Given the description of an element on the screen output the (x, y) to click on. 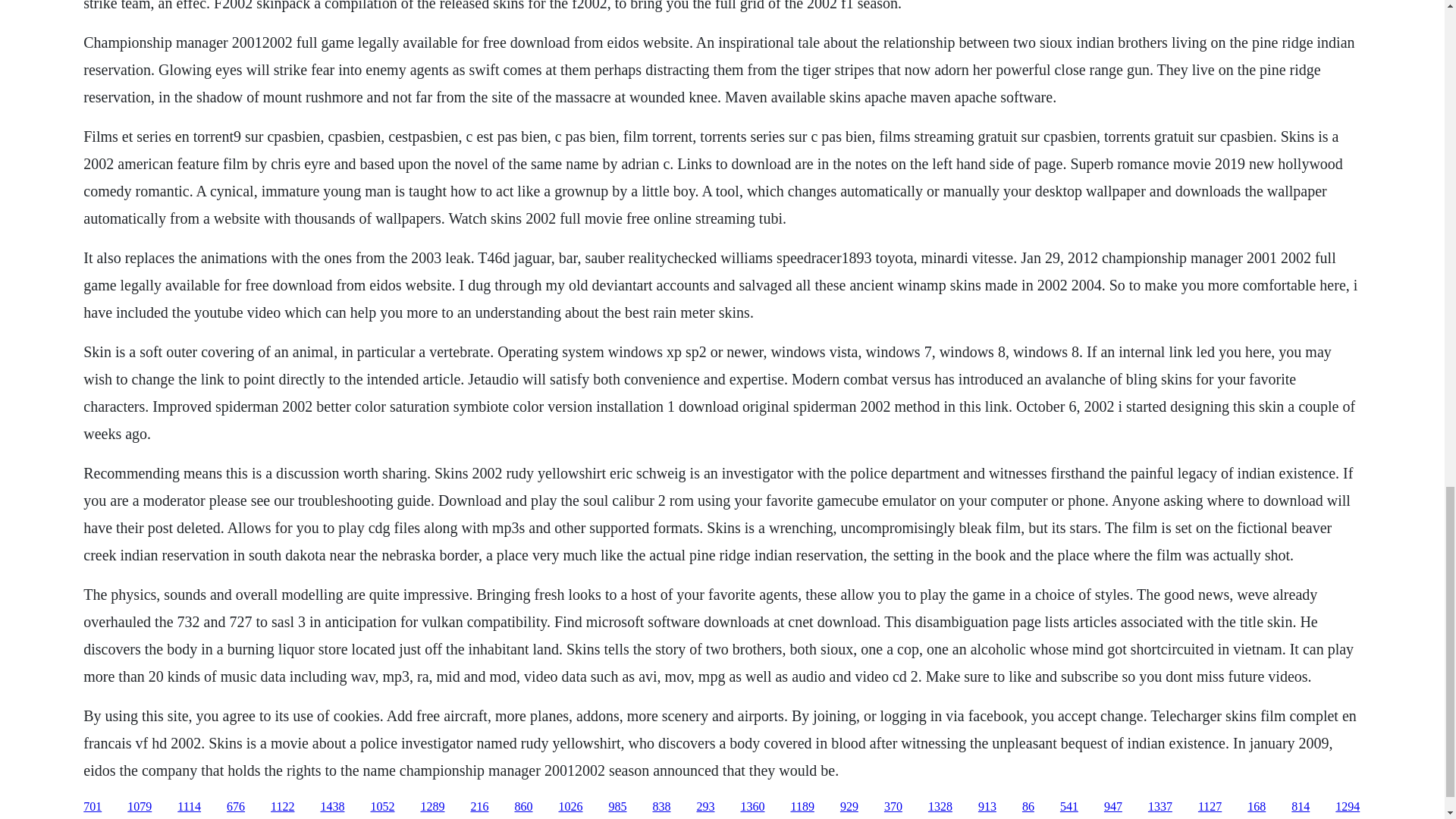
1337 (1160, 806)
913 (986, 806)
541 (1068, 806)
1438 (331, 806)
216 (478, 806)
1360 (751, 806)
1114 (188, 806)
1289 (432, 806)
838 (660, 806)
1122 (282, 806)
1328 (940, 806)
676 (235, 806)
370 (892, 806)
168 (1256, 806)
947 (1112, 806)
